Given the description of an element on the screen output the (x, y) to click on. 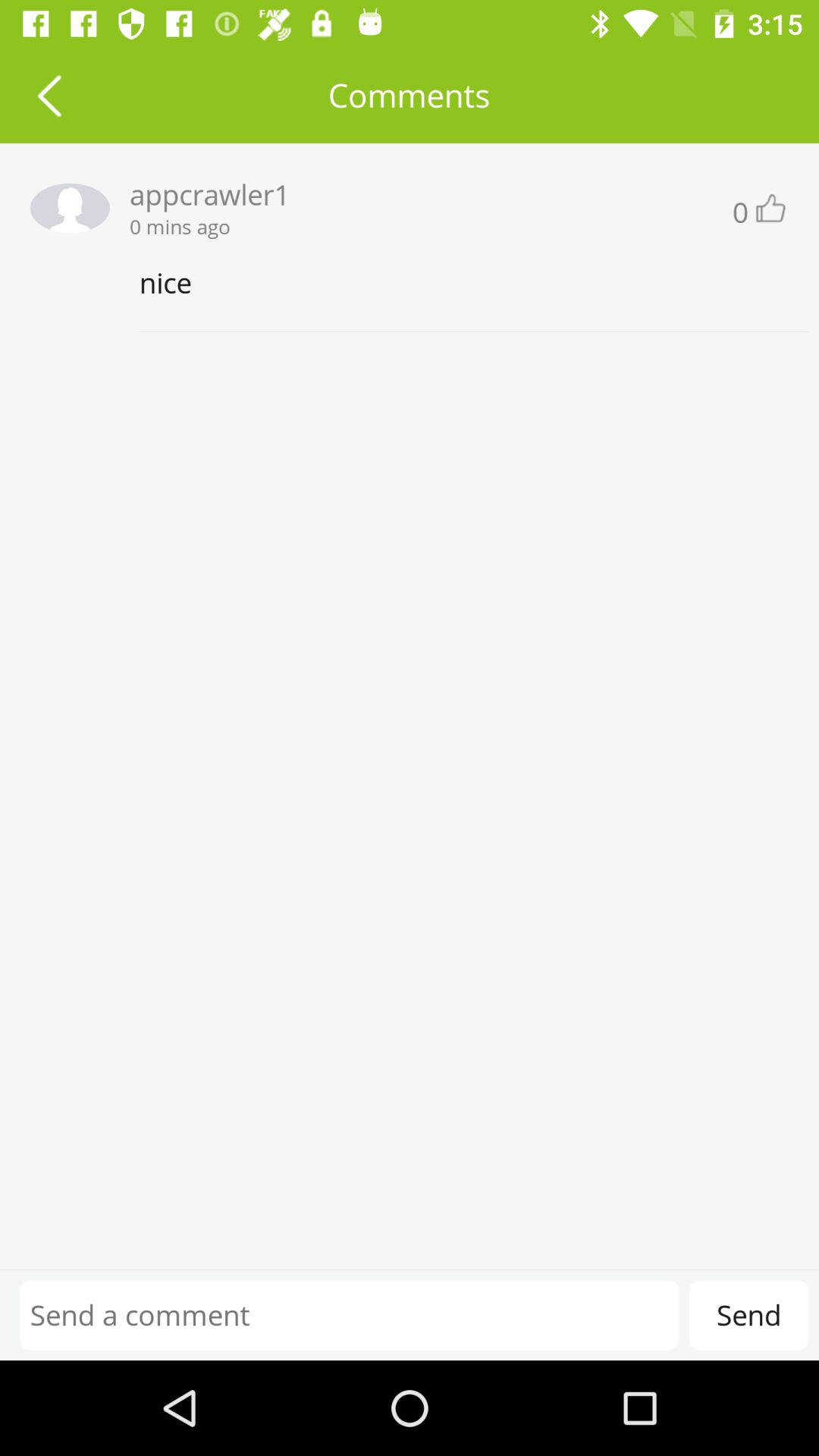
select icon to the left of send (349, 1315)
